Given the description of an element on the screen output the (x, y) to click on. 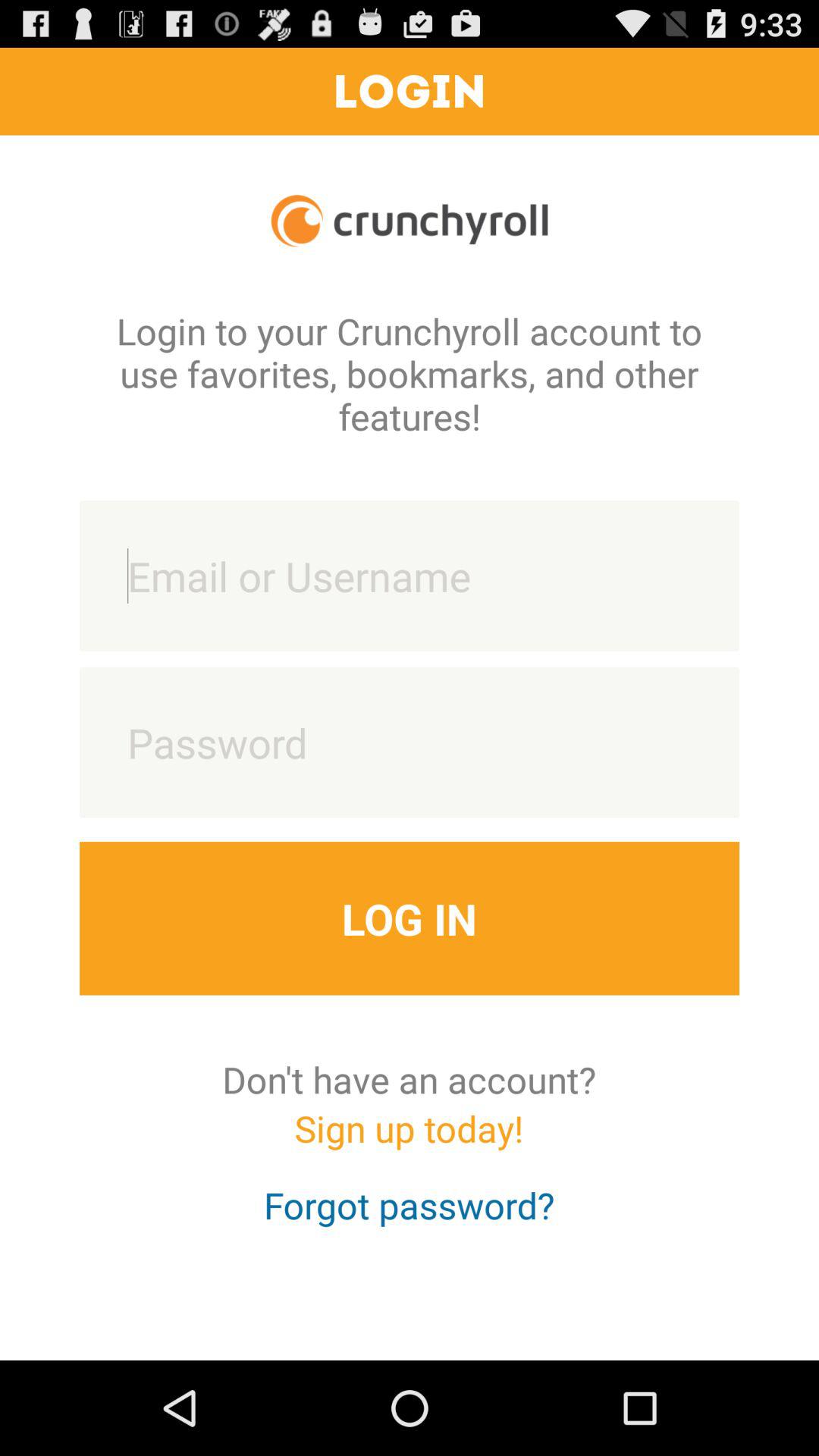
enter password (409, 742)
